Given the description of an element on the screen output the (x, y) to click on. 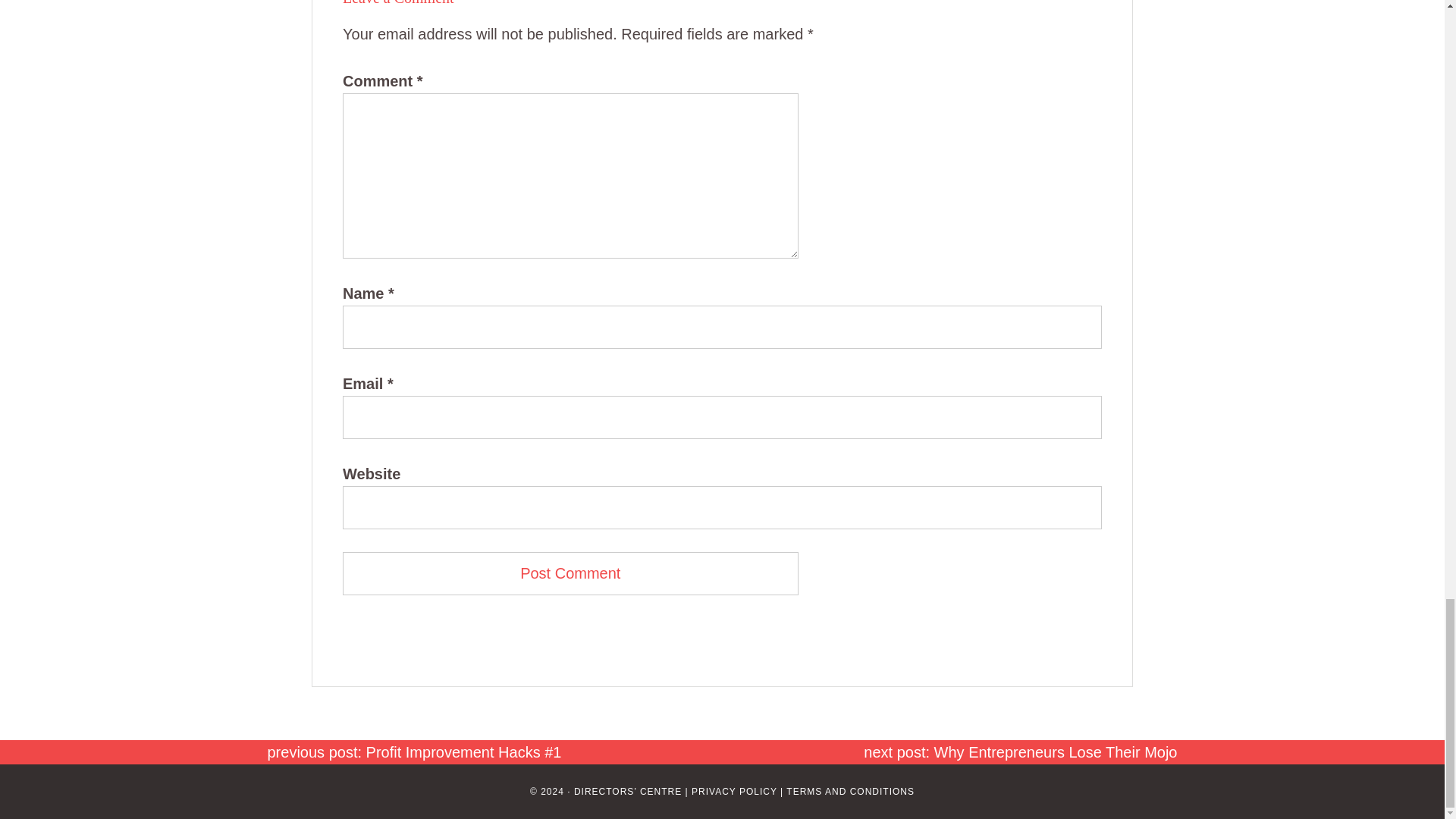
PRIVACY POLICY (734, 791)
Post Comment (569, 573)
Post Comment (569, 573)
next post: Why Entrepreneurs Lose Their Mojo (1019, 751)
TERMS AND CONDITIONS (850, 791)
